Given the description of an element on the screen output the (x, y) to click on. 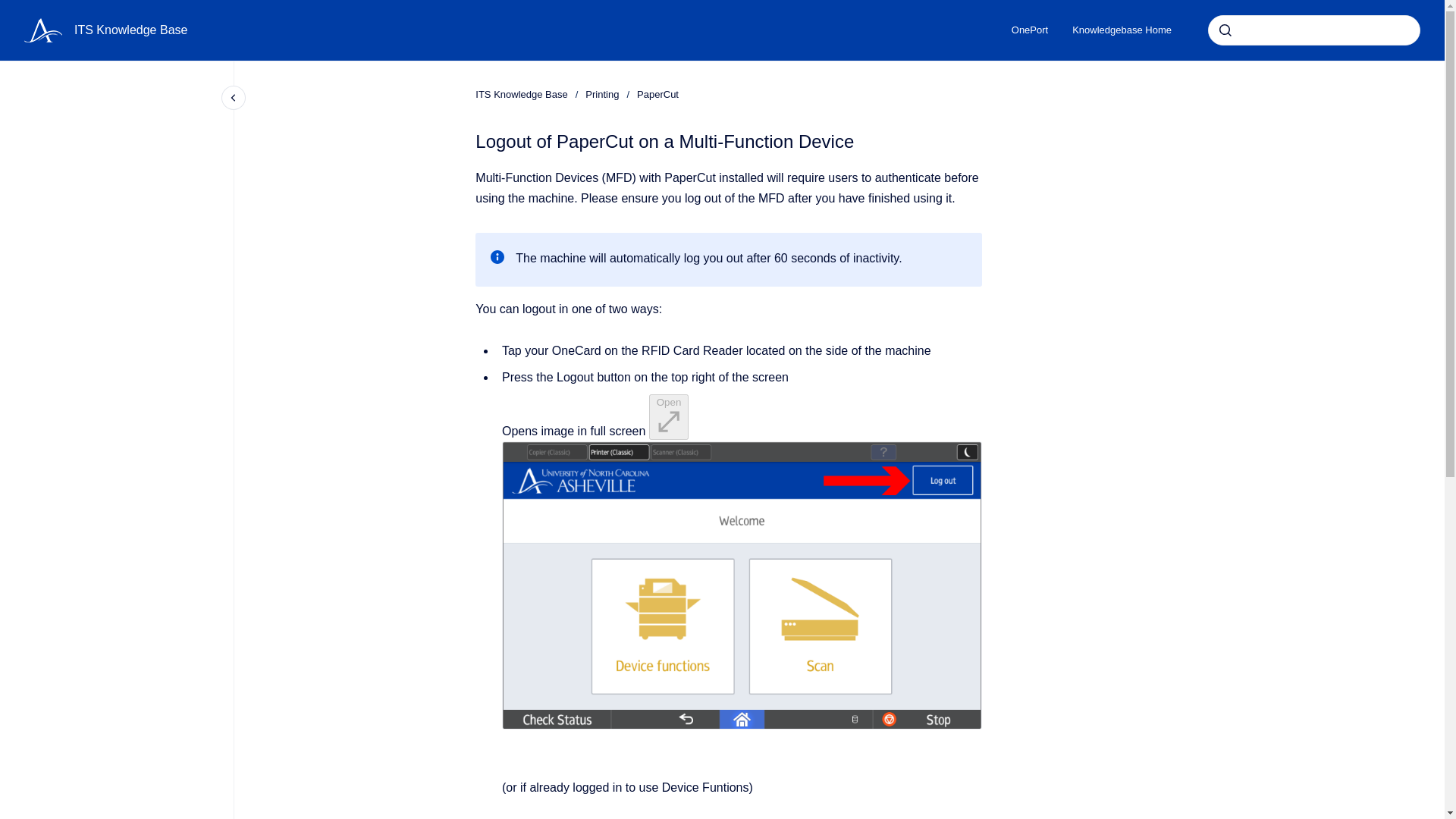
OnePort (1028, 29)
ITS Knowledge Base (130, 29)
Printing (601, 94)
Knowledgebase Home (1121, 29)
ITS Knowledge Base (521, 94)
Go to homepage (43, 30)
PaperCut (657, 94)
